Given the description of an element on the screen output the (x, y) to click on. 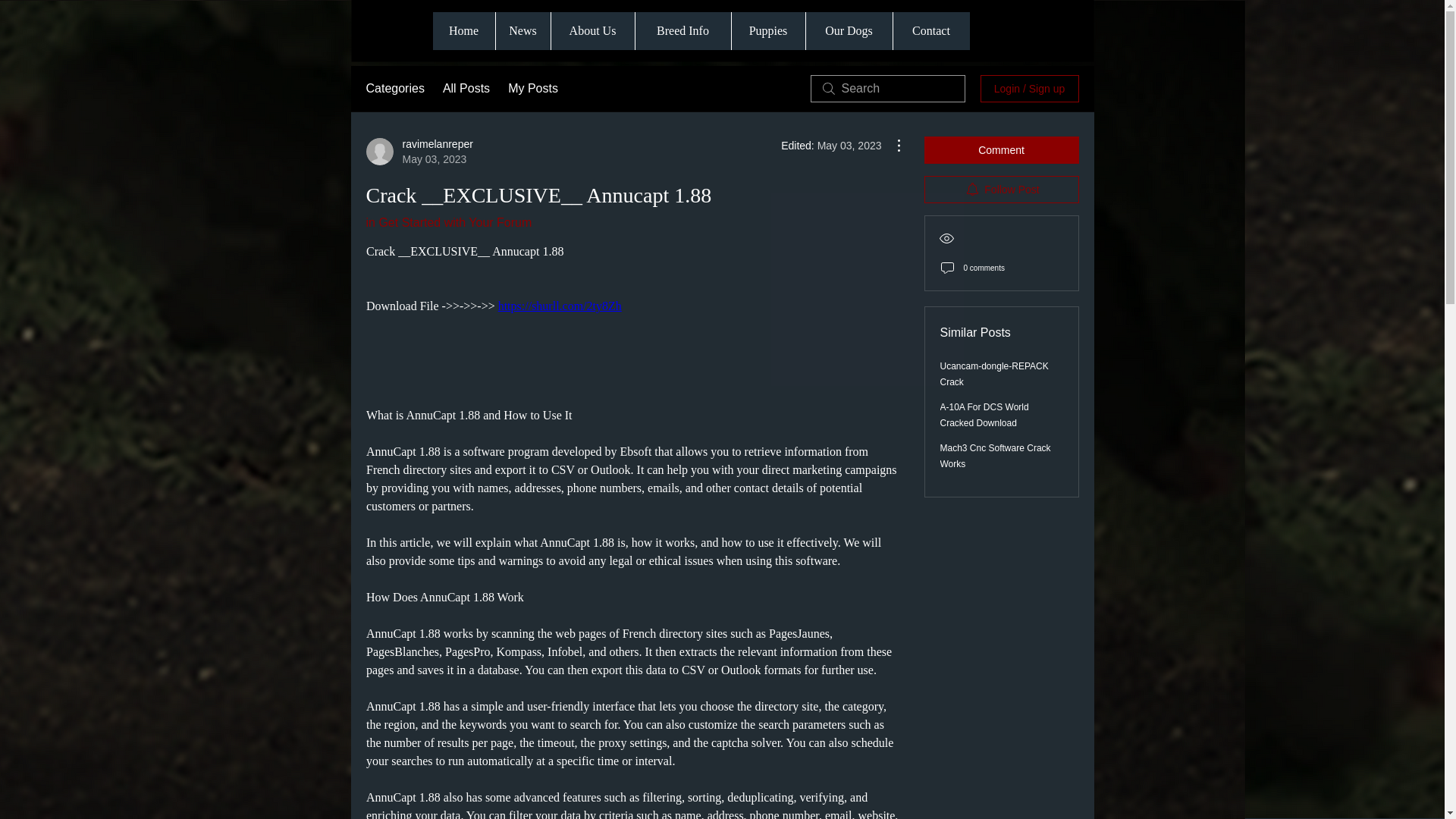
Comment (1000, 149)
My Posts (532, 88)
Categories (394, 88)
All Posts (465, 88)
Ucancam-dongle-REPACK Crack (994, 374)
Contact (930, 30)
in Get Started with Your Forum (448, 222)
Follow Post (1000, 189)
A-10A For DCS World Cracked Download (984, 415)
Breed Info (681, 30)
Puppies (767, 30)
About Us (592, 30)
News (522, 30)
Our Dogs (848, 30)
Home (463, 30)
